Given the description of an element on the screen output the (x, y) to click on. 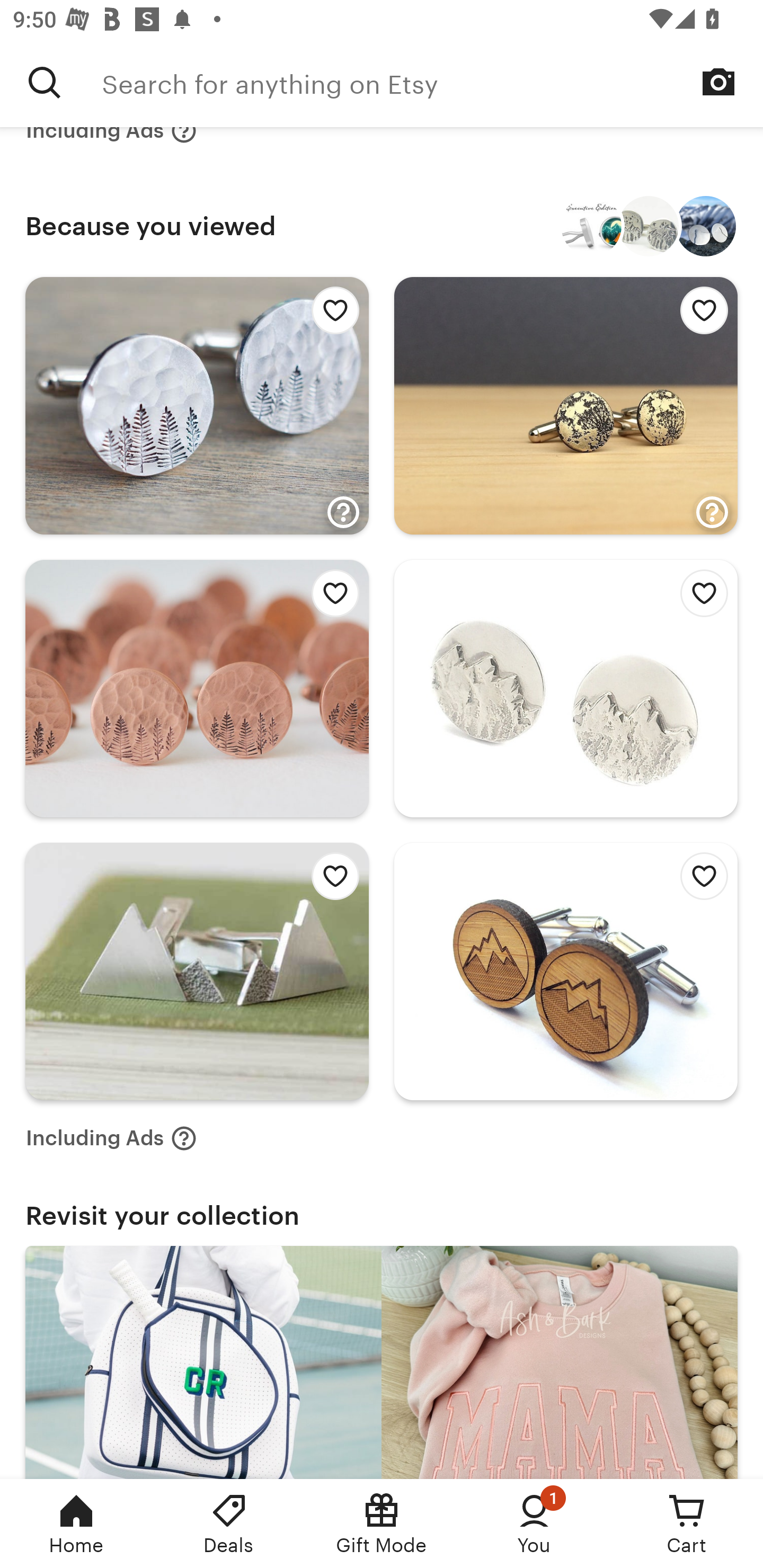
Search for anything on Etsy (44, 82)
Search by image (718, 81)
Search for anything on Etsy (432, 82)
Including Ads (111, 1138)
Deals (228, 1523)
Gift Mode (381, 1523)
You, 1 new notification You (533, 1523)
Cart (686, 1523)
